Given the description of an element on the screen output the (x, y) to click on. 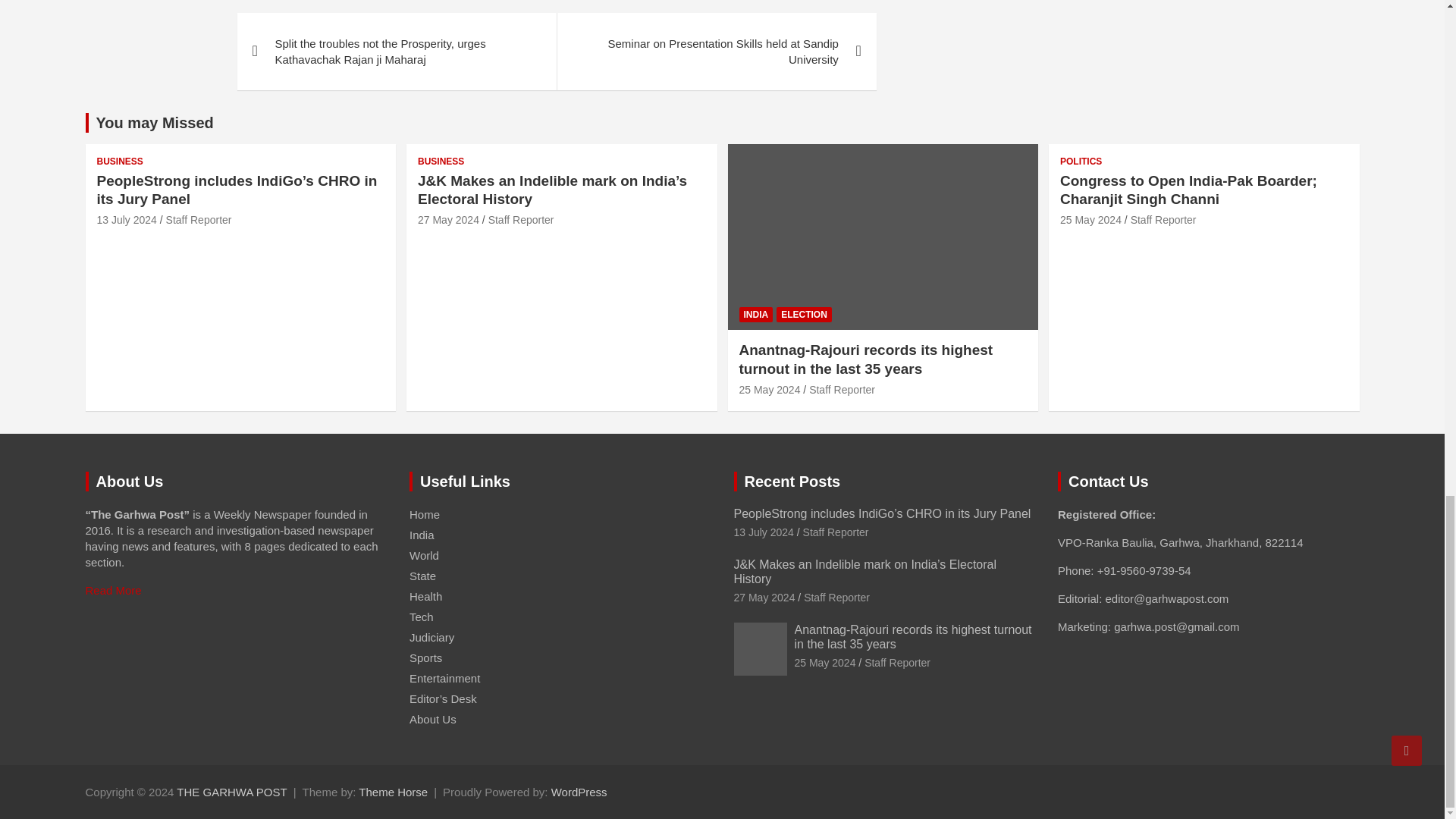
Congress to Open India-Pak Boarder; Charanjit Singh Channi (1090, 219)
Theme Horse (393, 791)
Seminar on Presentation Skills held at Sandip University (716, 51)
THE GARHWA POST (231, 791)
